Given the description of an element on the screen output the (x, y) to click on. 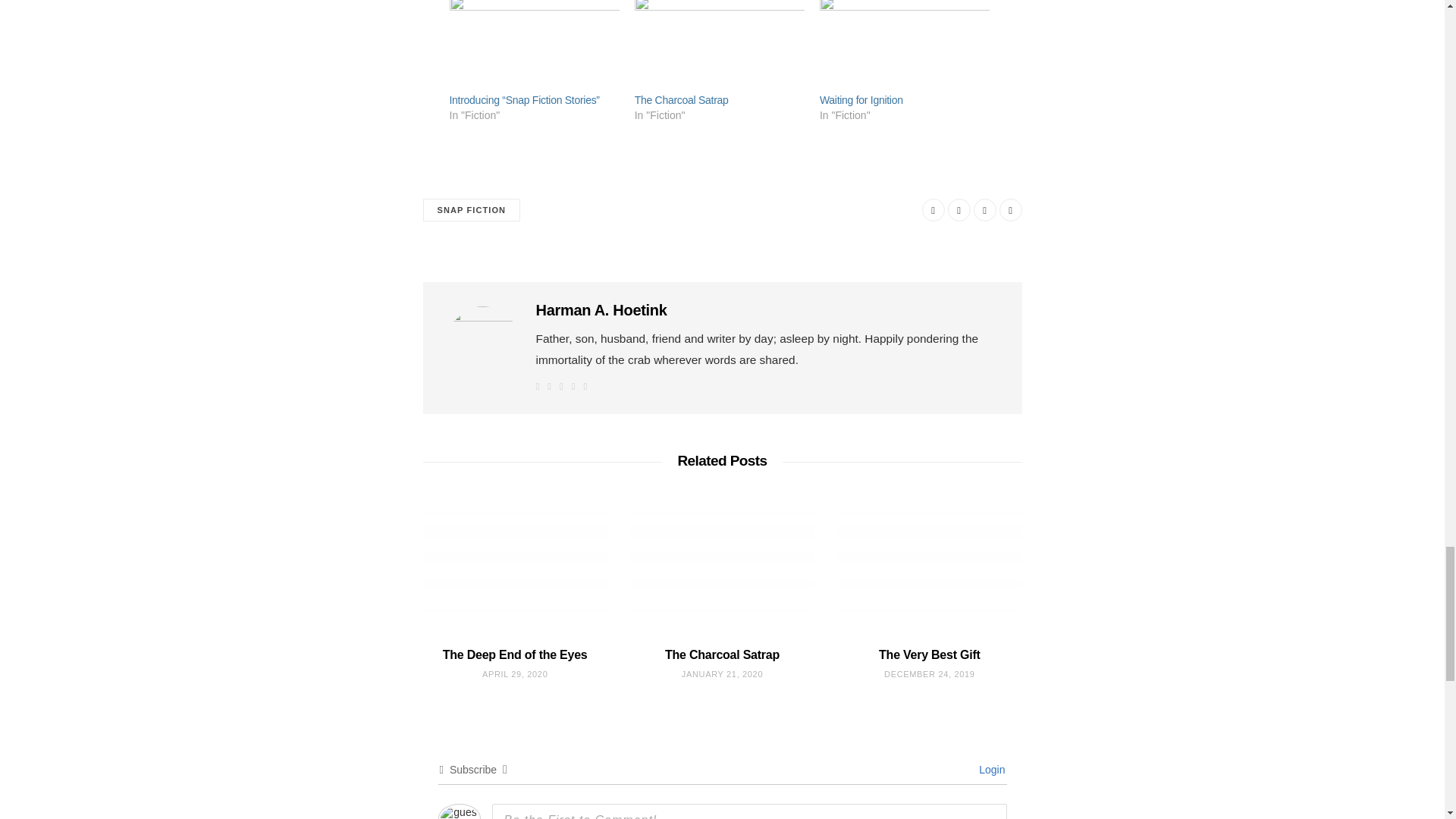
Harman A. Hoetink (600, 310)
The Charcoal Satrap (719, 46)
Waiting for Ignition (860, 100)
Facebook (549, 386)
Facebook (932, 210)
Twitter (959, 210)
LinkedIn (585, 386)
The Charcoal Satrap (681, 100)
The Charcoal Satrap (681, 100)
Pinterest (561, 386)
SNAP FICTION (472, 210)
Pinterest (984, 210)
Waiting for Ignition (860, 100)
Waiting for Ignition (904, 46)
